Given the description of an element on the screen output the (x, y) to click on. 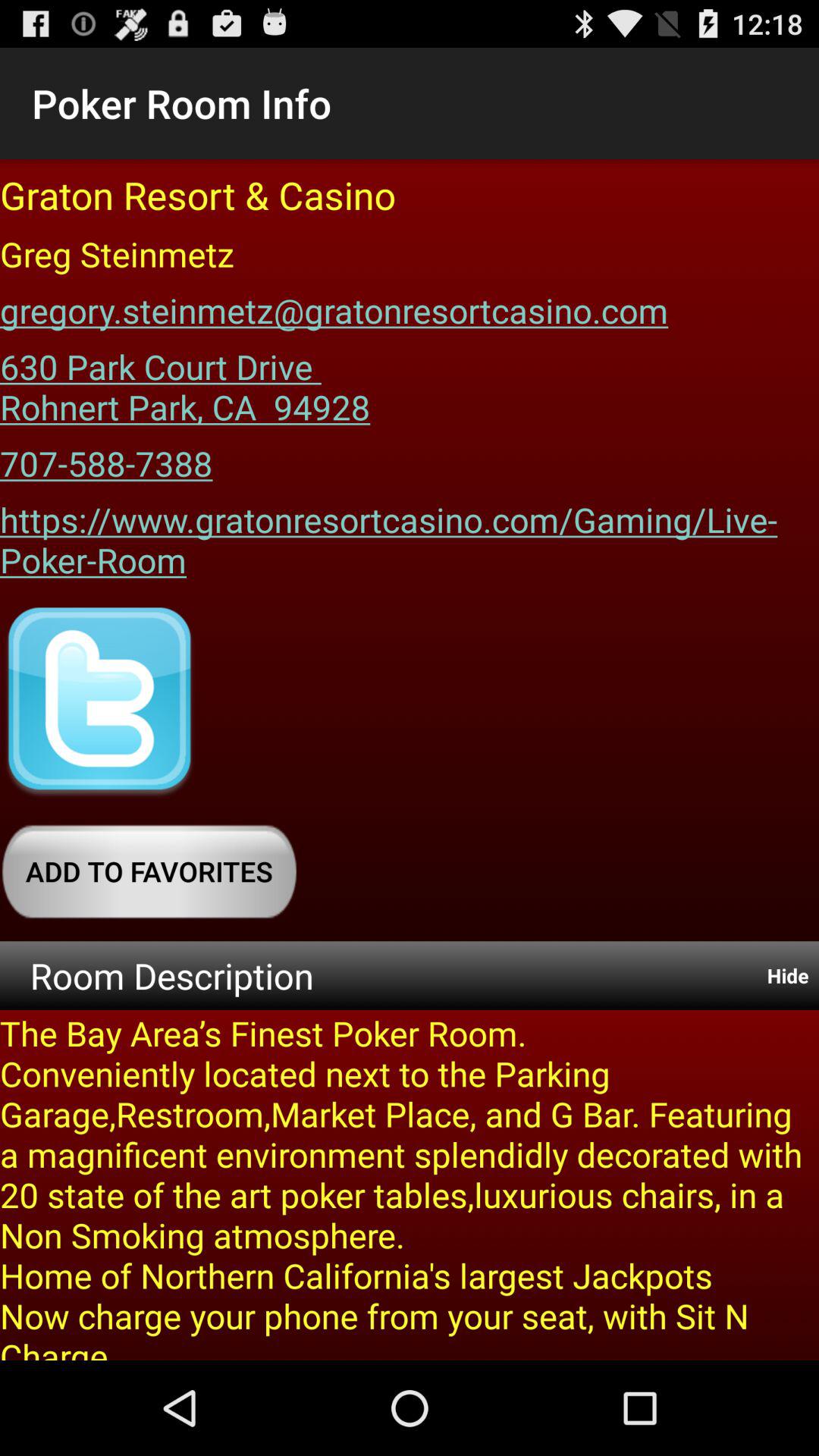
jump until the 707-588-7388 item (106, 457)
